Given the description of an element on the screen output the (x, y) to click on. 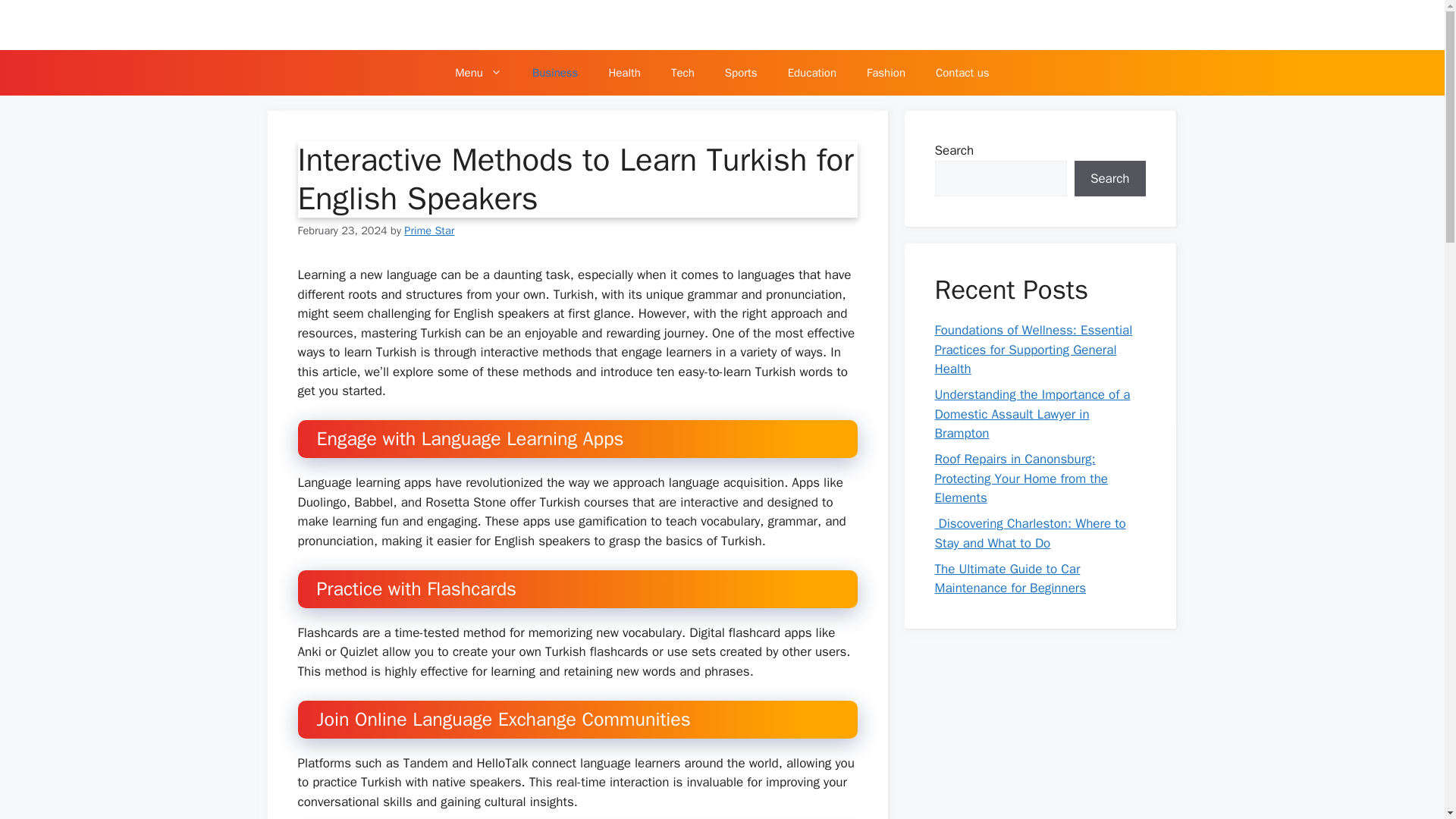
Menu (477, 72)
Health (624, 72)
Business (555, 72)
Prime Star (429, 230)
Fashion (885, 72)
Contact us (962, 72)
View all posts by Prime Star (429, 230)
 Discovering Charleston: Where to Stay and What to Do (1029, 533)
Search (1109, 178)
Tech (683, 72)
Sports (741, 72)
The Ultimate Guide to Car Maintenance for Beginners (1010, 579)
